Given the description of an element on the screen output the (x, y) to click on. 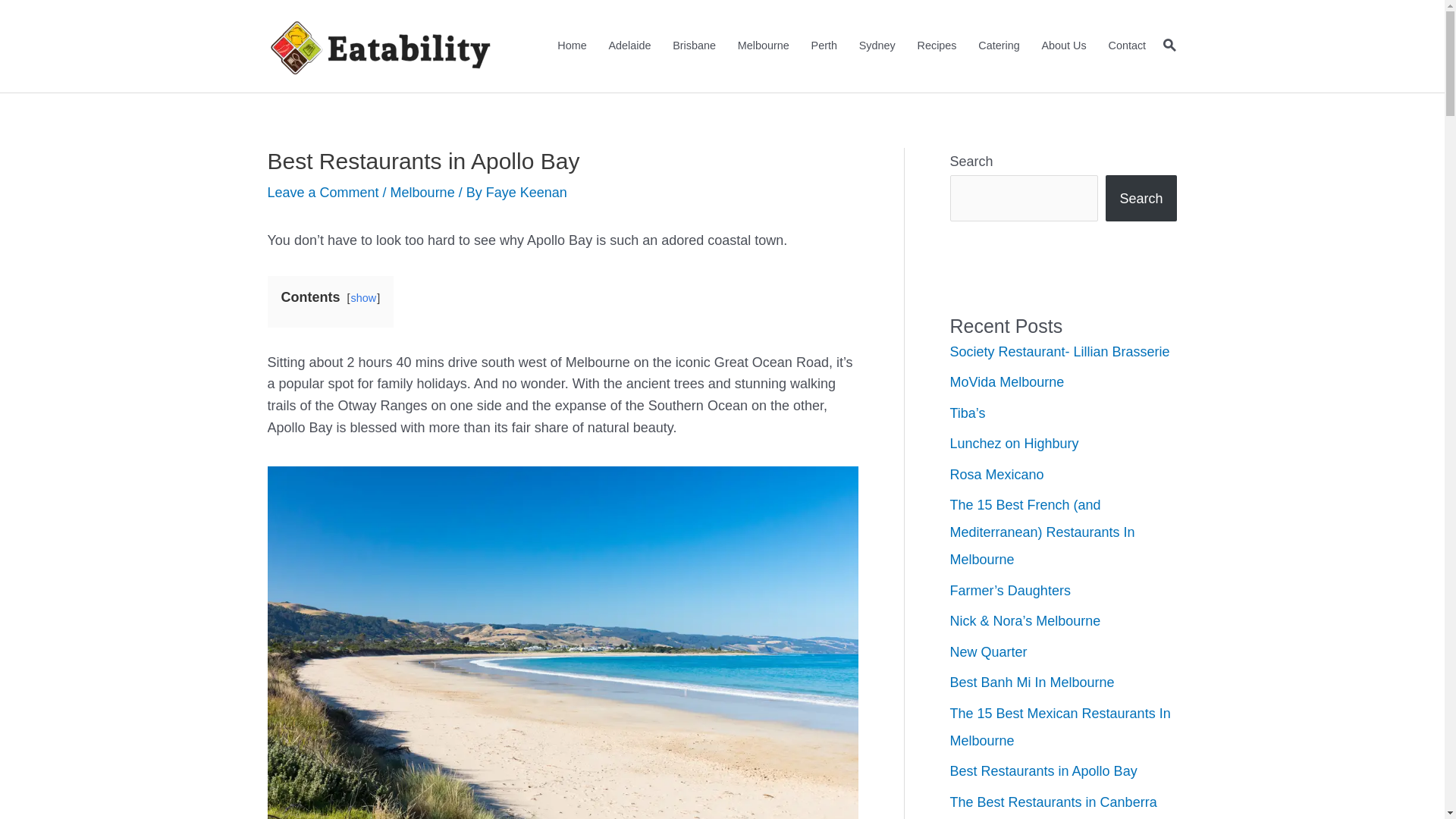
The Best Restaurants in Canberra Element type: text (1052, 801)
Adelaide Element type: text (629, 46)
MoVida Melbourne Element type: text (1006, 381)
Leave a Comment Element type: text (322, 192)
Recipes Element type: text (936, 46)
show Element type: text (363, 297)
Sydney Element type: text (876, 46)
Melbourne Element type: text (763, 46)
Faye Keenan Element type: text (526, 192)
Melbourne Element type: text (422, 192)
Perth Element type: text (823, 46)
Rosa Mexicano Element type: text (996, 474)
Brisbane Element type: text (694, 46)
Search Element type: text (1140, 198)
The 15 Best Mexican Restaurants In Melbourne Element type: text (1059, 727)
Contact Element type: text (1126, 46)
About Us Element type: text (1063, 46)
Home Element type: text (571, 46)
Best Restaurants in Apollo Bay Element type: text (1042, 770)
Catering Element type: text (998, 46)
Best Banh Mi In Melbourne Element type: text (1031, 682)
New Quarter Element type: text (987, 651)
Lunchez on Highbury Element type: text (1013, 443)
Society Restaurant- Lillian Brasserie Element type: text (1059, 351)
